Given the description of an element on the screen output the (x, y) to click on. 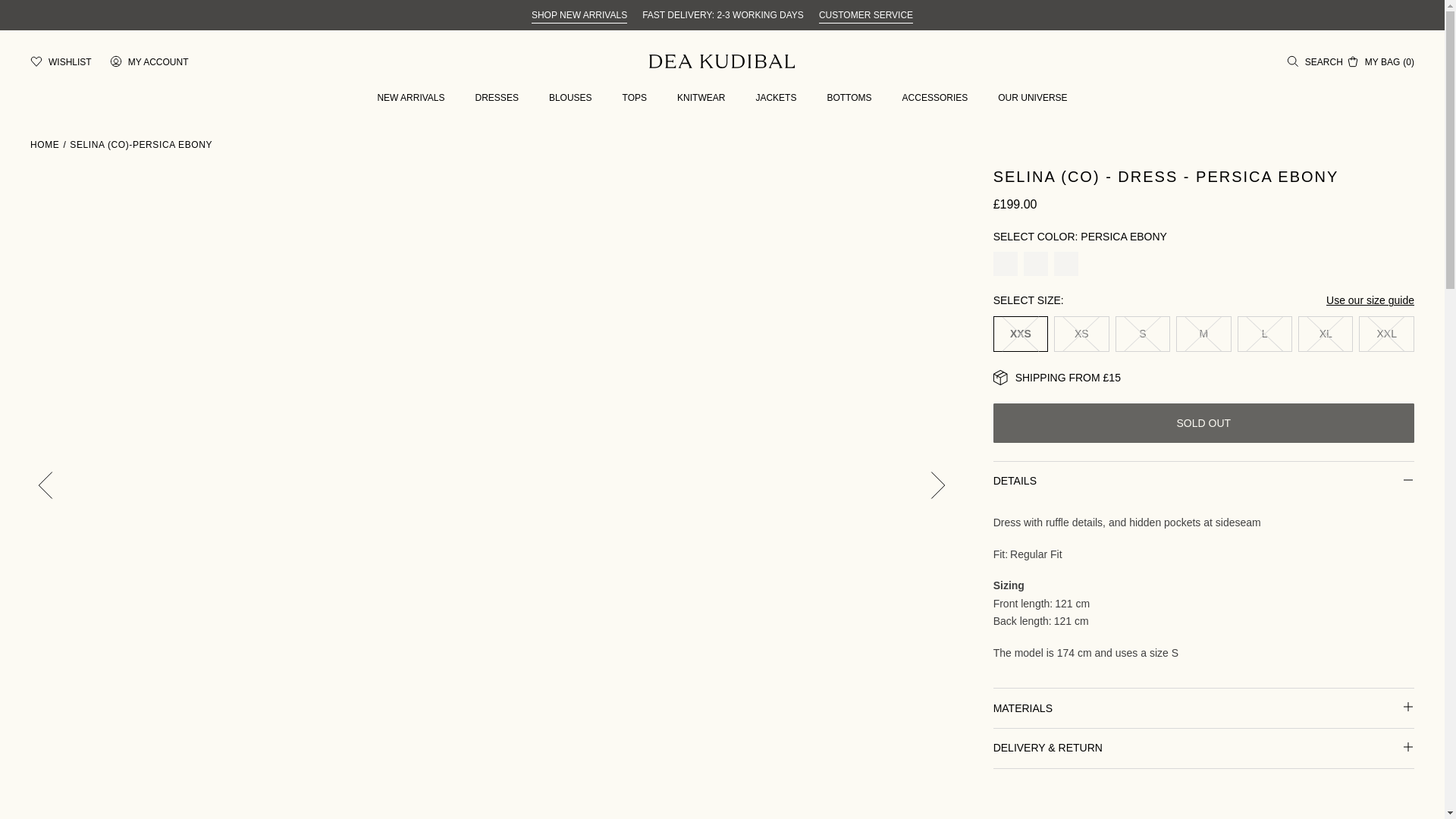
MY ACCOUNT (149, 61)
OUR UNIVERSE (1032, 97)
Home (44, 144)
BLOUSES (570, 97)
NEW ARRIVALS (410, 97)
TOPS (634, 97)
BOTTOMS (848, 97)
